Given the description of an element on the screen output the (x, y) to click on. 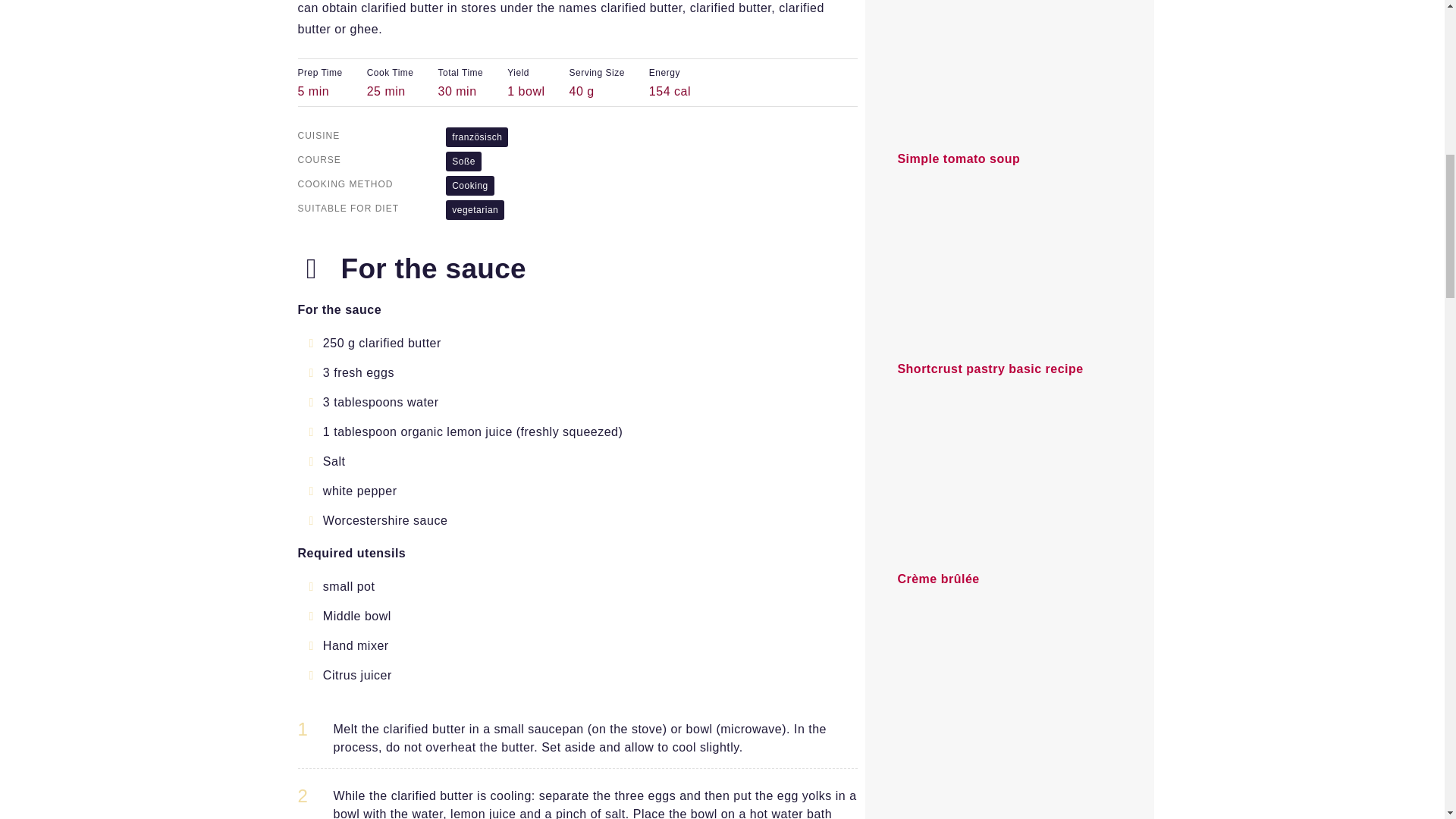
Simple tomato soup 3 (1009, 69)
Shortcrust pastry basic recipe 4 (1009, 273)
